Given the description of an element on the screen output the (x, y) to click on. 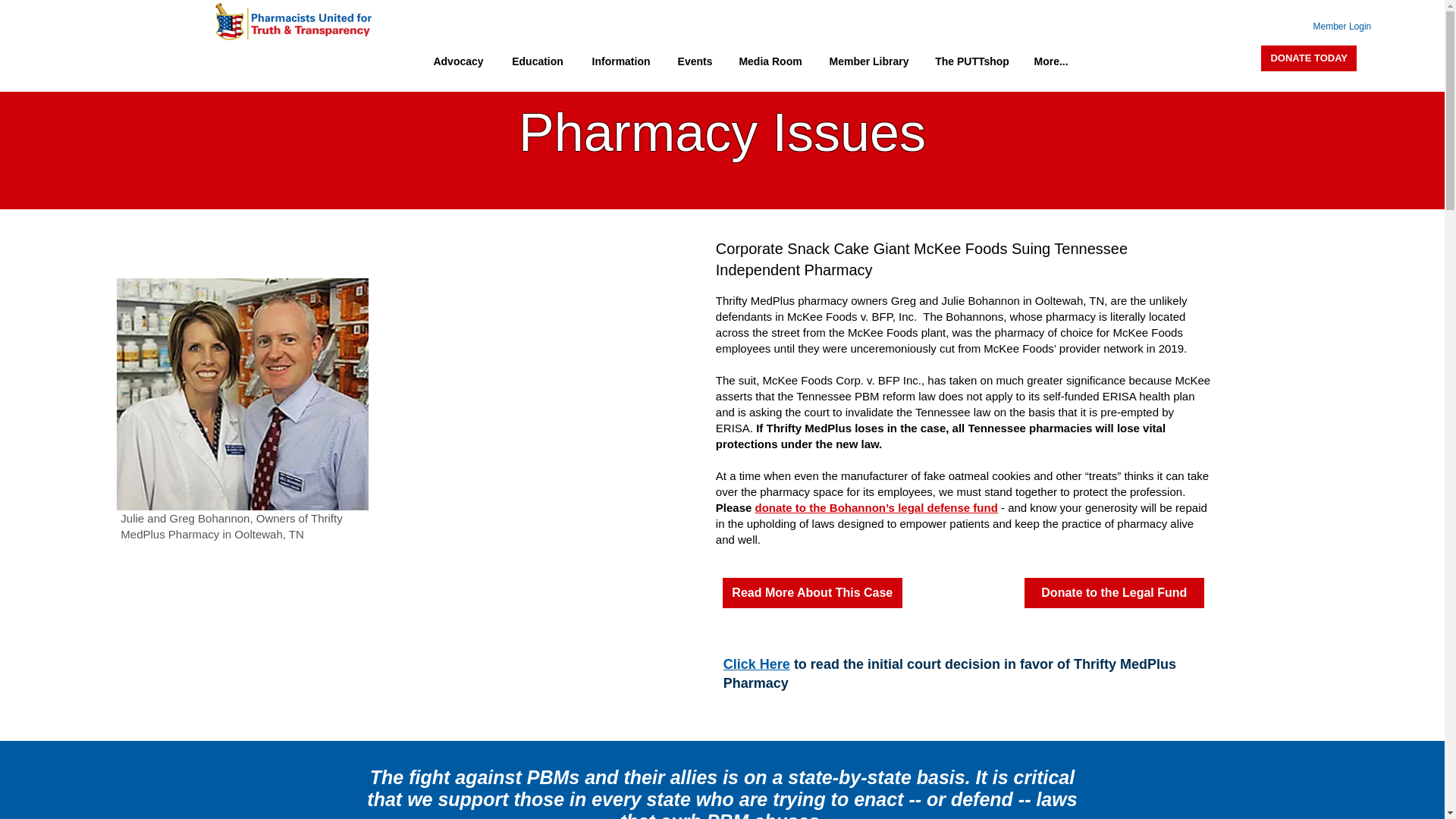
Education (536, 61)
Member Library (868, 61)
Member Login (1328, 26)
Events (695, 61)
Donate to the Legal Fund (1114, 593)
Information (620, 61)
Media Room (770, 61)
DONATE TODAY (1308, 58)
The PUTTshop (971, 61)
Click Here (756, 663)
